Given the description of an element on the screen output the (x, y) to click on. 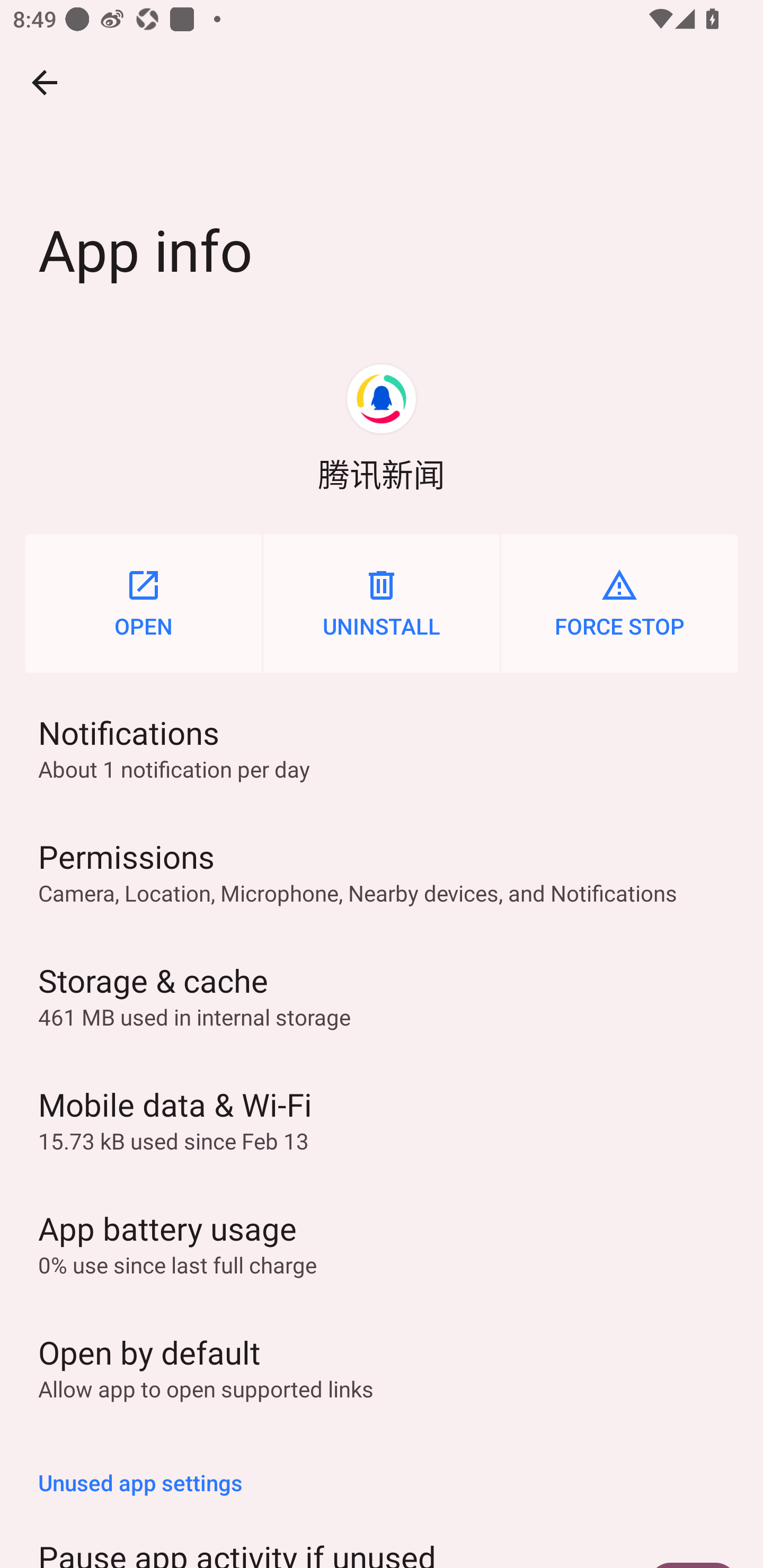
Navigate up (44, 82)
OPEN (143, 603)
UNINSTALL (381, 603)
FORCE STOP (619, 603)
Notifications About 1 notification per day (381, 747)
Storage & cache 461 MB used in internal storage (381, 994)
Mobile data & Wi‑Fi 15.73 kB used since Feb 13 (381, 1118)
App battery usage 0% use since last full charge (381, 1242)
Open by default Allow app to open supported links (381, 1366)
